Given the description of an element on the screen output the (x, y) to click on. 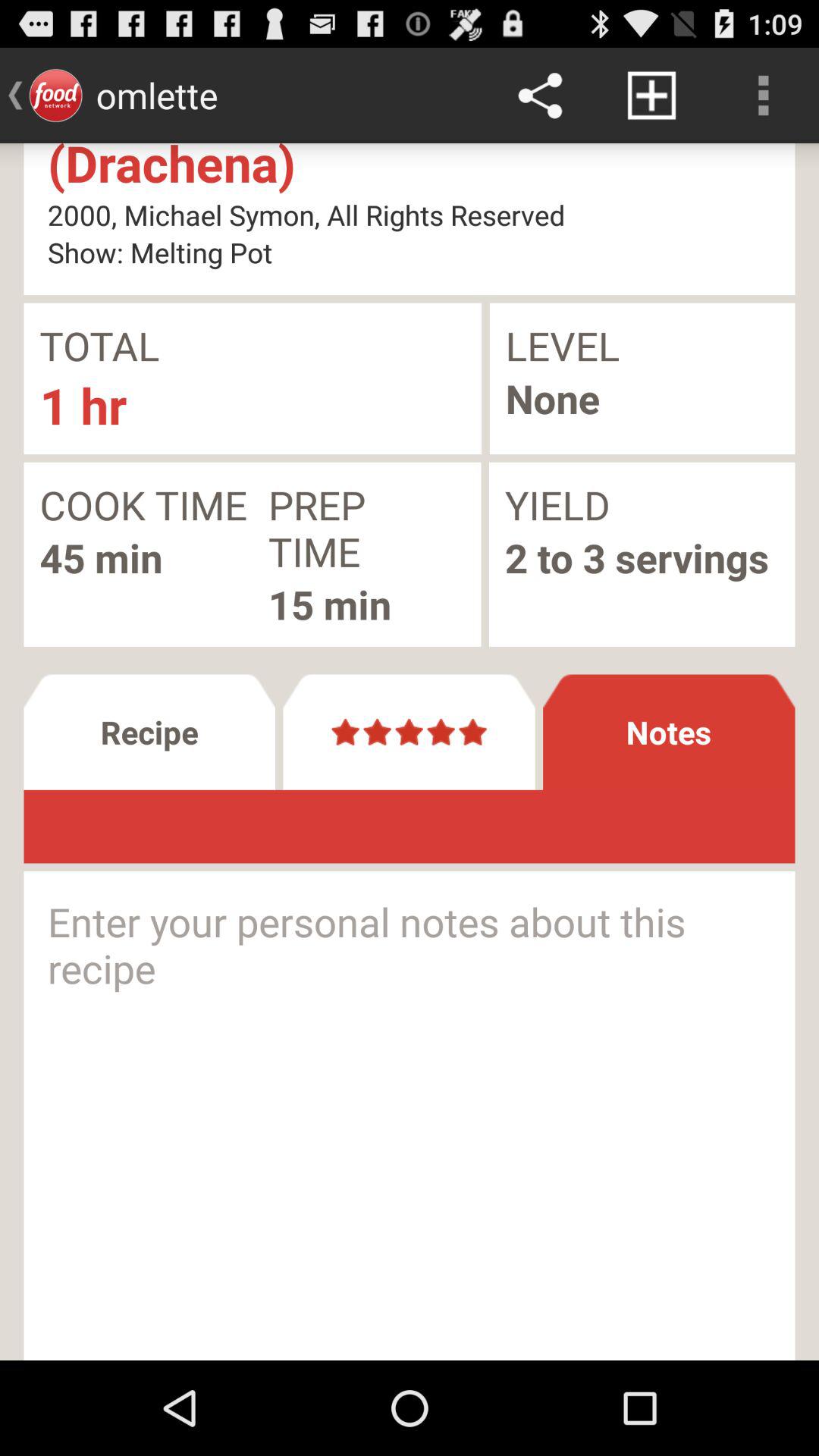
choose item above the baked polish omlette item (763, 95)
